Given the description of an element on the screen output the (x, y) to click on. 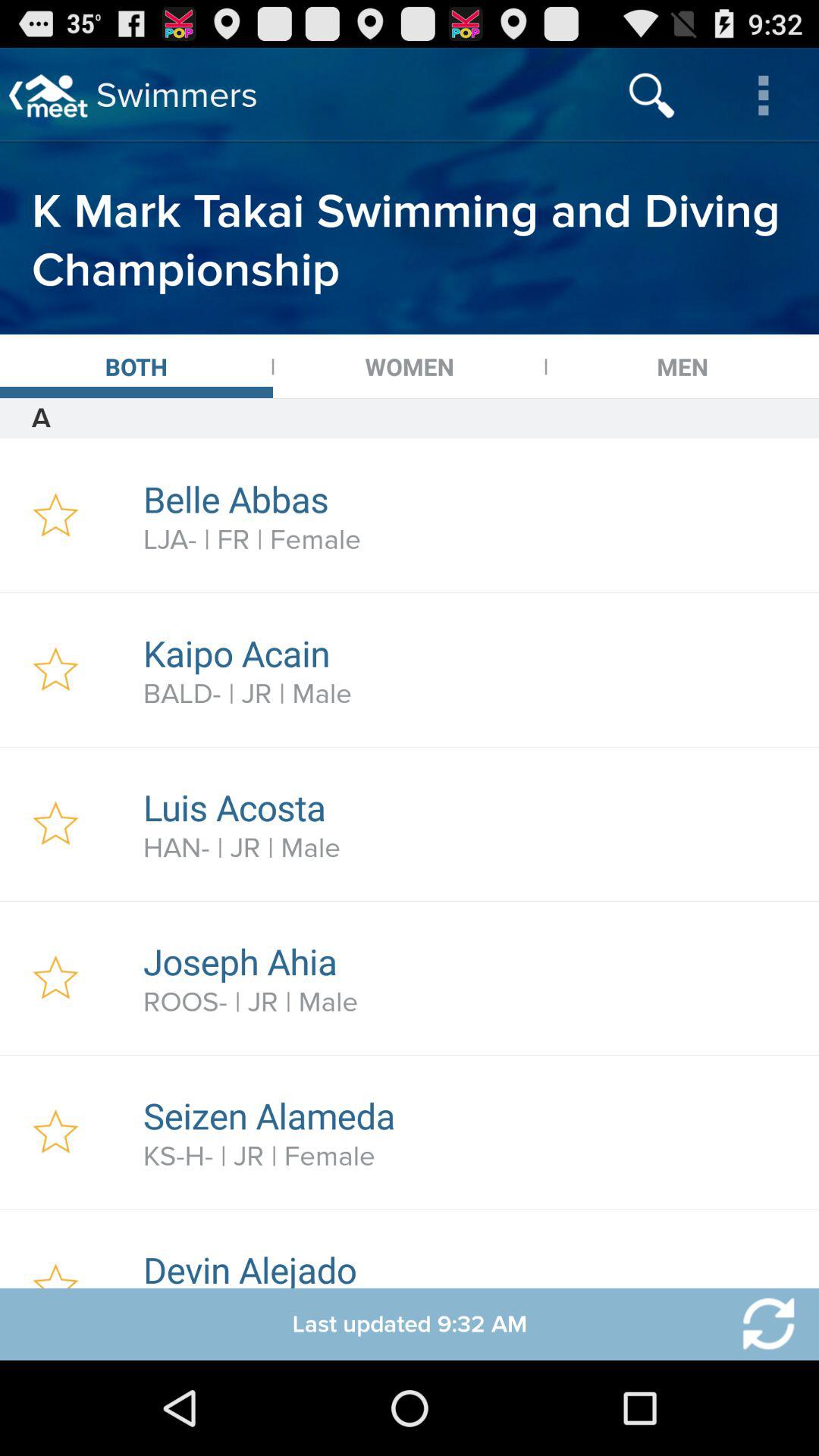
flag your favorite swimmer (55, 1132)
